Given the description of an element on the screen output the (x, y) to click on. 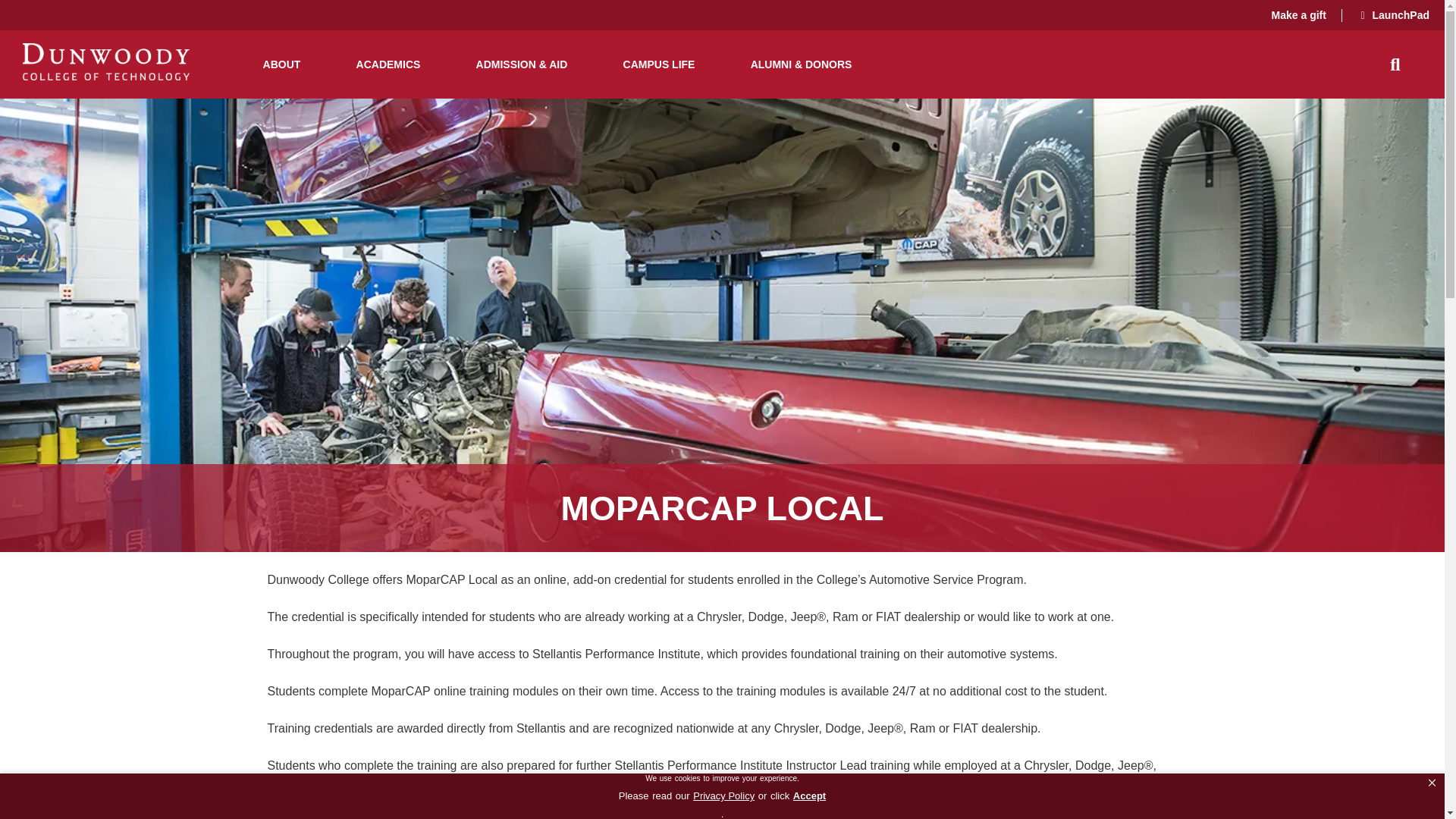
Privacy Policy (723, 796)
ACADEMICS (388, 64)
Make a gift (1298, 15)
LaunchPad (1401, 15)
ABOUT (281, 64)
Accept (809, 796)
